Given the description of an element on the screen output the (x, y) to click on. 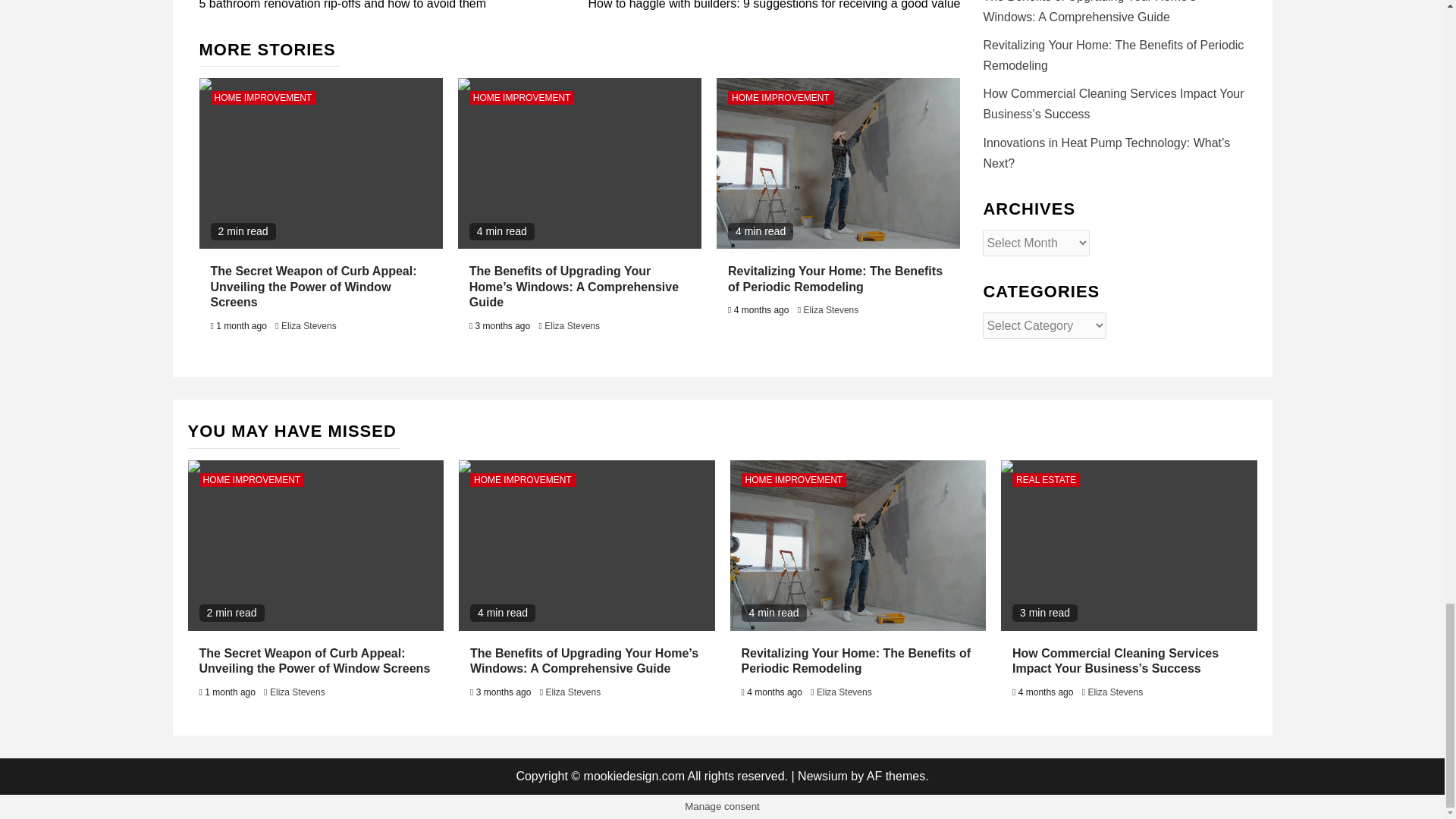
Revitalizing Your Home: The Benefits of Periodic Remodeling (857, 545)
Revitalizing Your Home: The Benefits of Periodic Remodeling (837, 162)
